Given the description of an element on the screen output the (x, y) to click on. 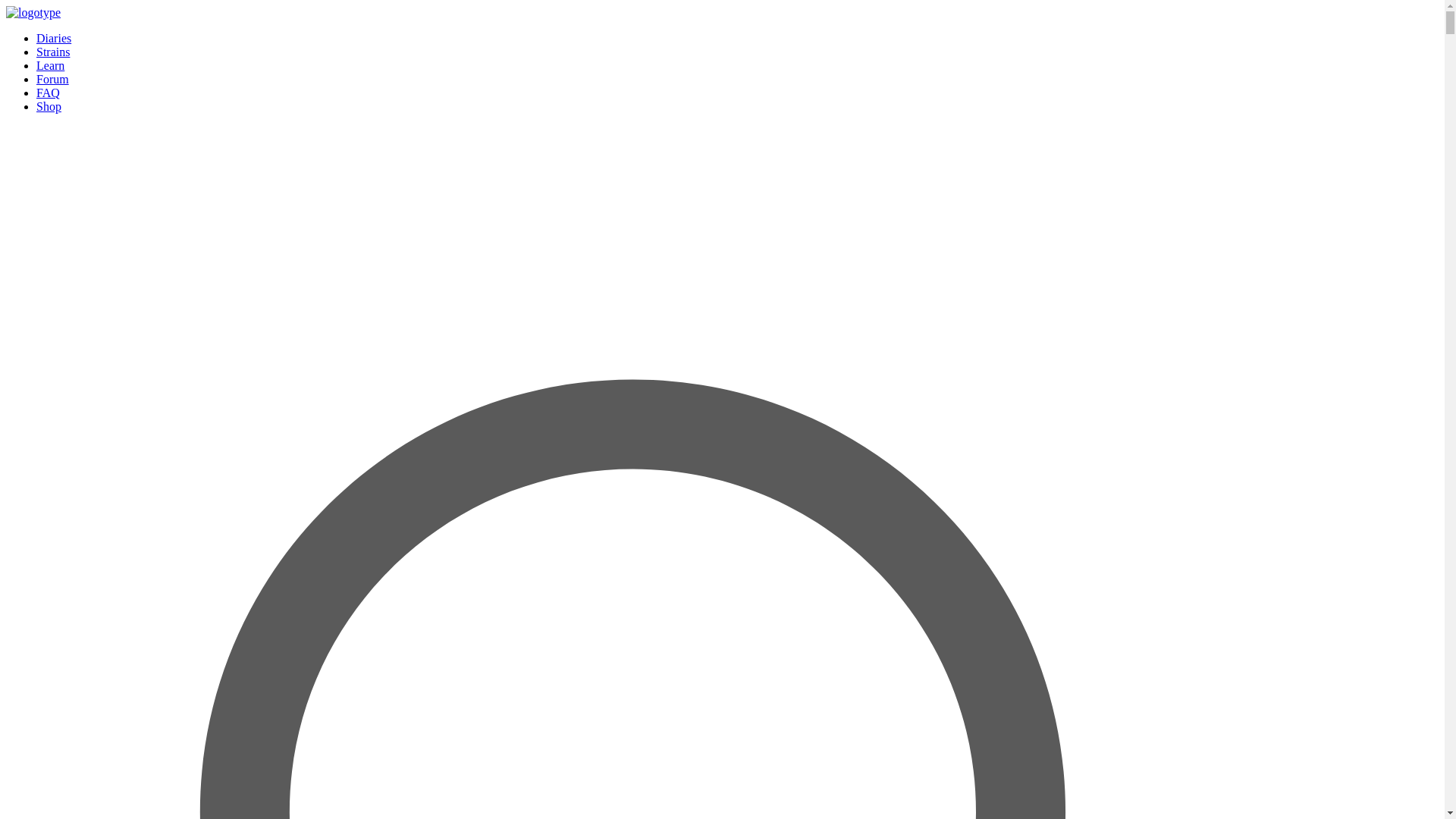
Homegrown Cannabis Co. (33, 12)
Shop (48, 106)
Learn (50, 65)
Forum (52, 78)
FAQ (47, 92)
Diaries (53, 38)
Strains (52, 51)
